Given the description of an element on the screen output the (x, y) to click on. 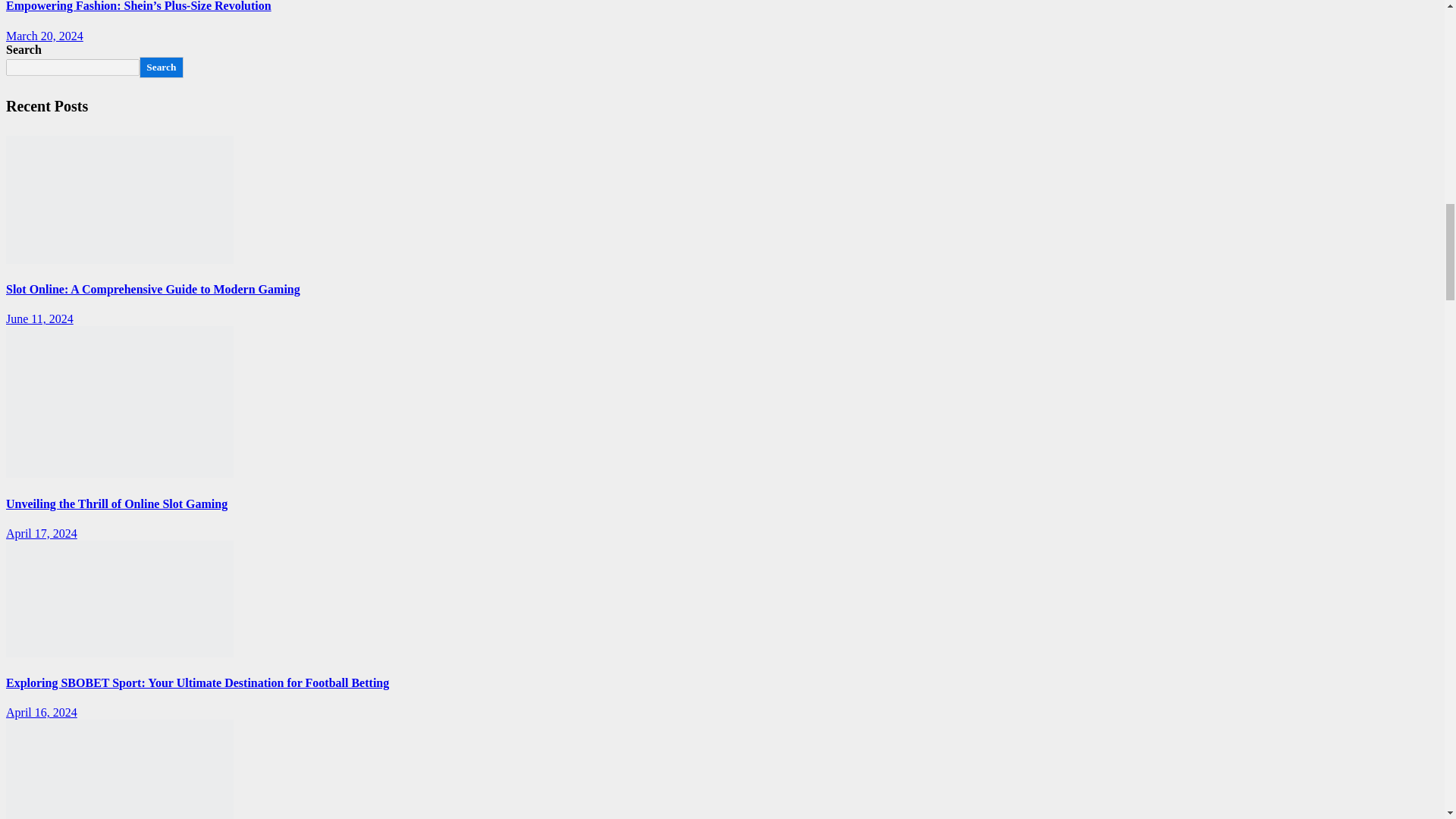
Unveiling the Thrill of Online Slot Gaming (118, 401)
Delving into the Thrilling World of Online Slot Games (118, 769)
SBOBET Sport (118, 598)
Slot Online: A Comprehensive Guide to Modern Gaming (118, 199)
March 20, 2024 (43, 35)
